Given the description of an element on the screen output the (x, y) to click on. 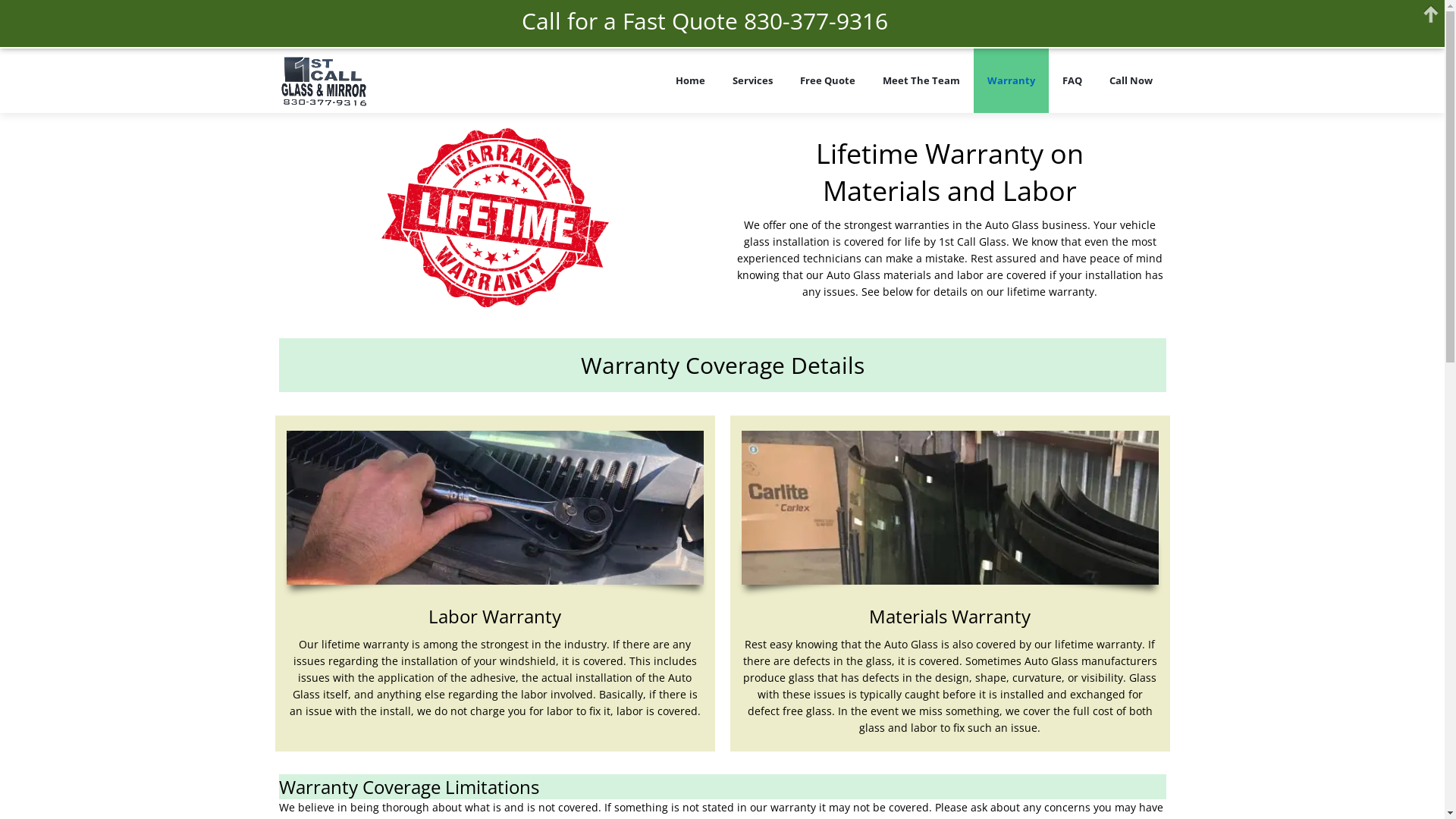
1st Call Glass Element type: hover (326, 79)
1st Call Glass Element type: hover (470, 79)
Services Element type: text (752, 80)
Meet The Team Element type: text (921, 80)
Free Quote Element type: text (826, 80)
Call Now Element type: text (1130, 80)
Warranty Element type: text (1010, 80)
FAQ Element type: text (1071, 80)
Home Element type: text (689, 80)
